Given the description of an element on the screen output the (x, y) to click on. 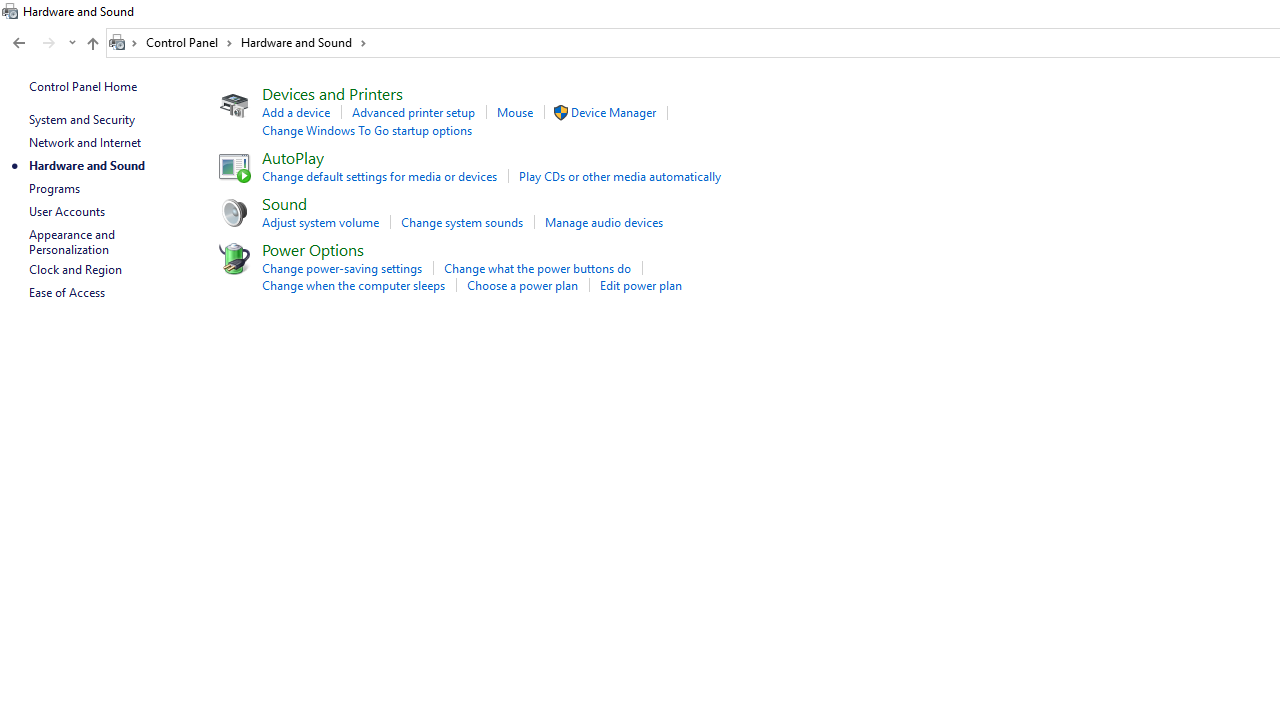
Play CDs or other media automatically (620, 176)
System and Security (81, 119)
Control Panel (189, 42)
Change when the computer sleeps (352, 285)
Change power-saving settings (341, 267)
Control Panel Home (82, 86)
Up to "Control Panel" (Alt + Up Arrow) (92, 43)
Change what the power buttons do (537, 267)
Mouse (515, 112)
Add a device (295, 112)
Forward (Alt + Right Arrow) (49, 43)
User Accounts (66, 210)
Network and Internet (84, 142)
Recent locations (71, 43)
Change default settings for media or devices (379, 176)
